Given the description of an element on the screen output the (x, y) to click on. 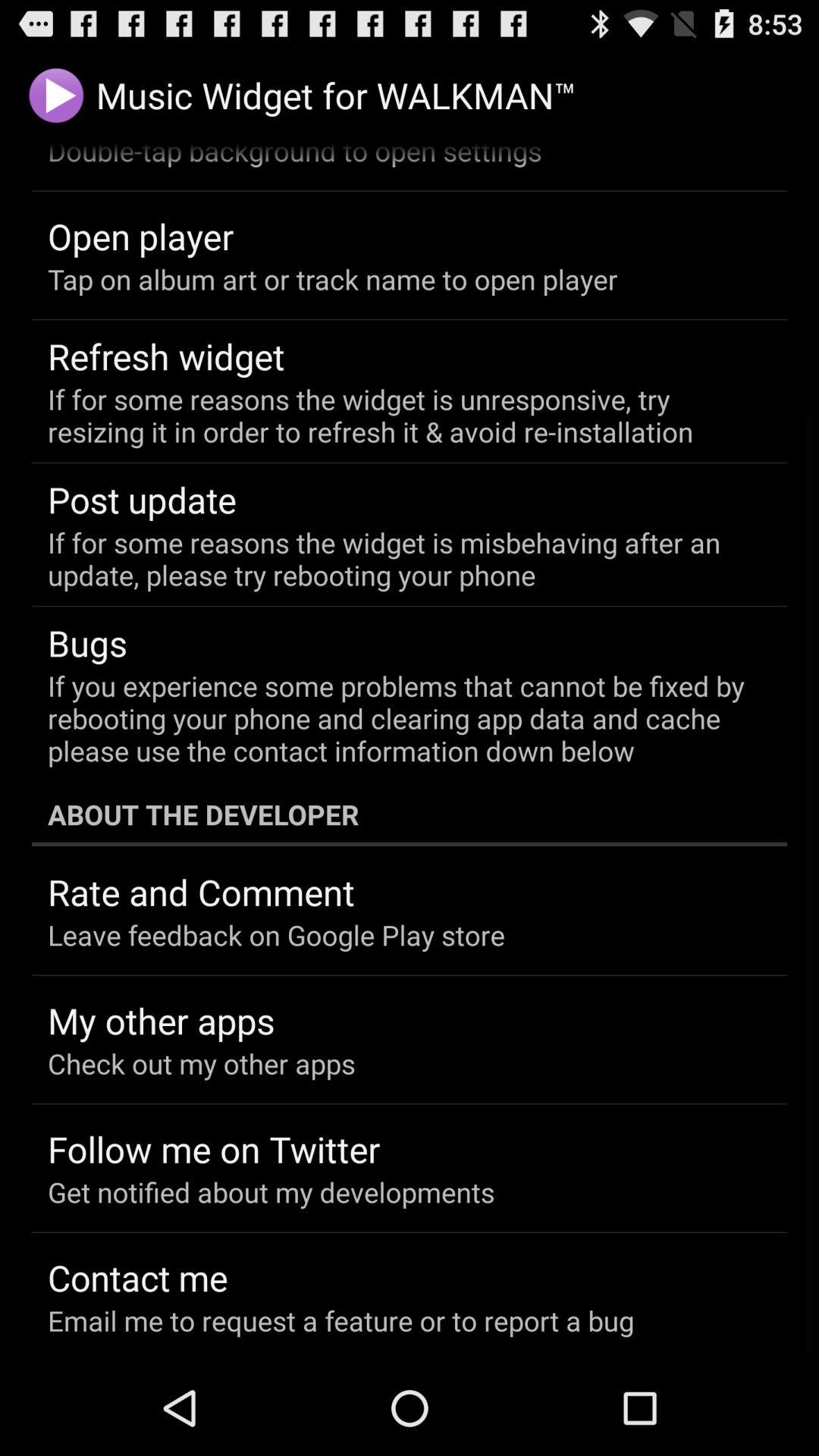
press the app below the contact me (340, 1320)
